Given the description of an element on the screen output the (x, y) to click on. 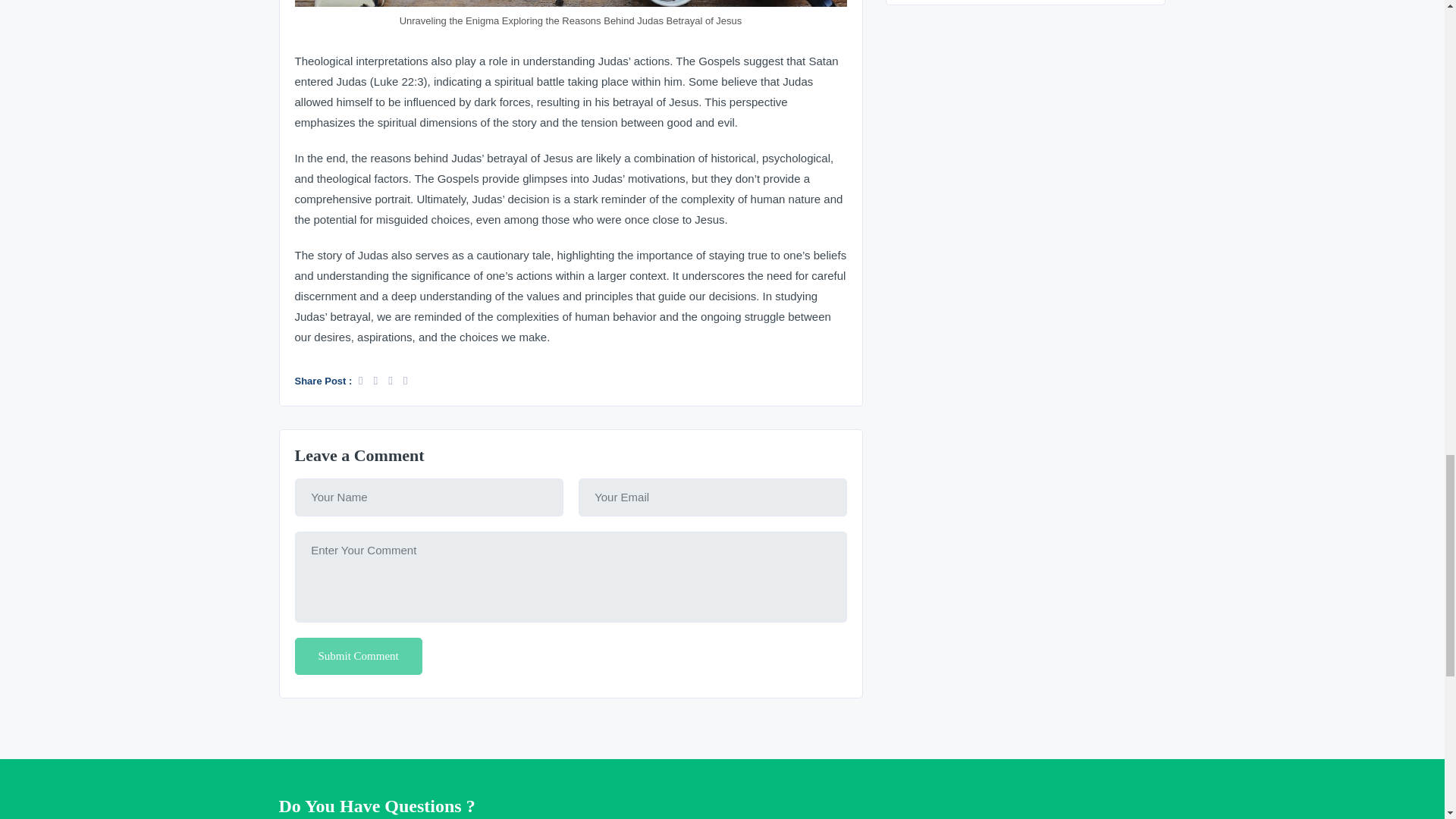
Submit Comment (358, 656)
Submit Comment (358, 656)
